Given the description of an element on the screen output the (x, y) to click on. 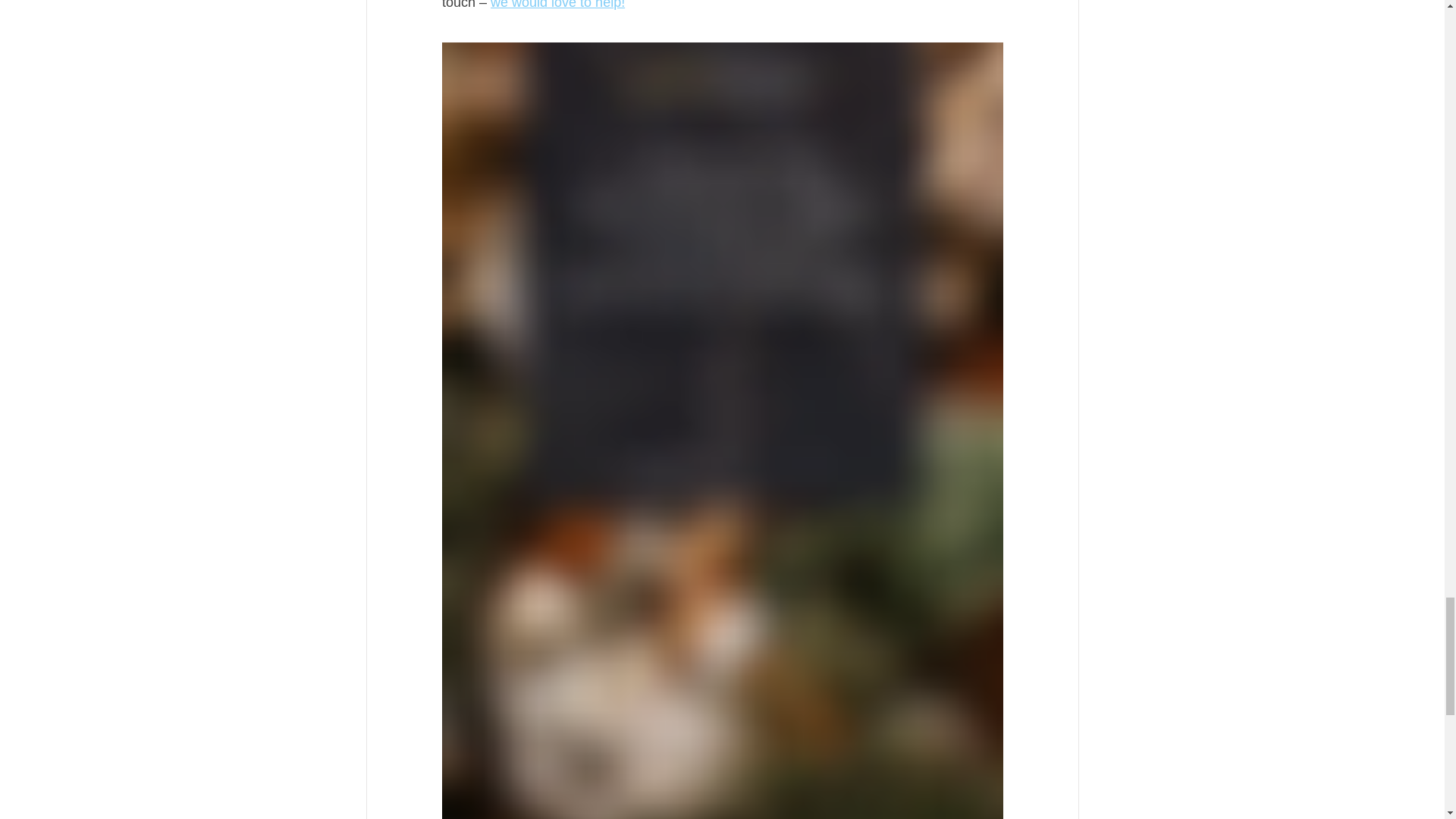
we would love to help! (557, 4)
